Given the description of an element on the screen output the (x, y) to click on. 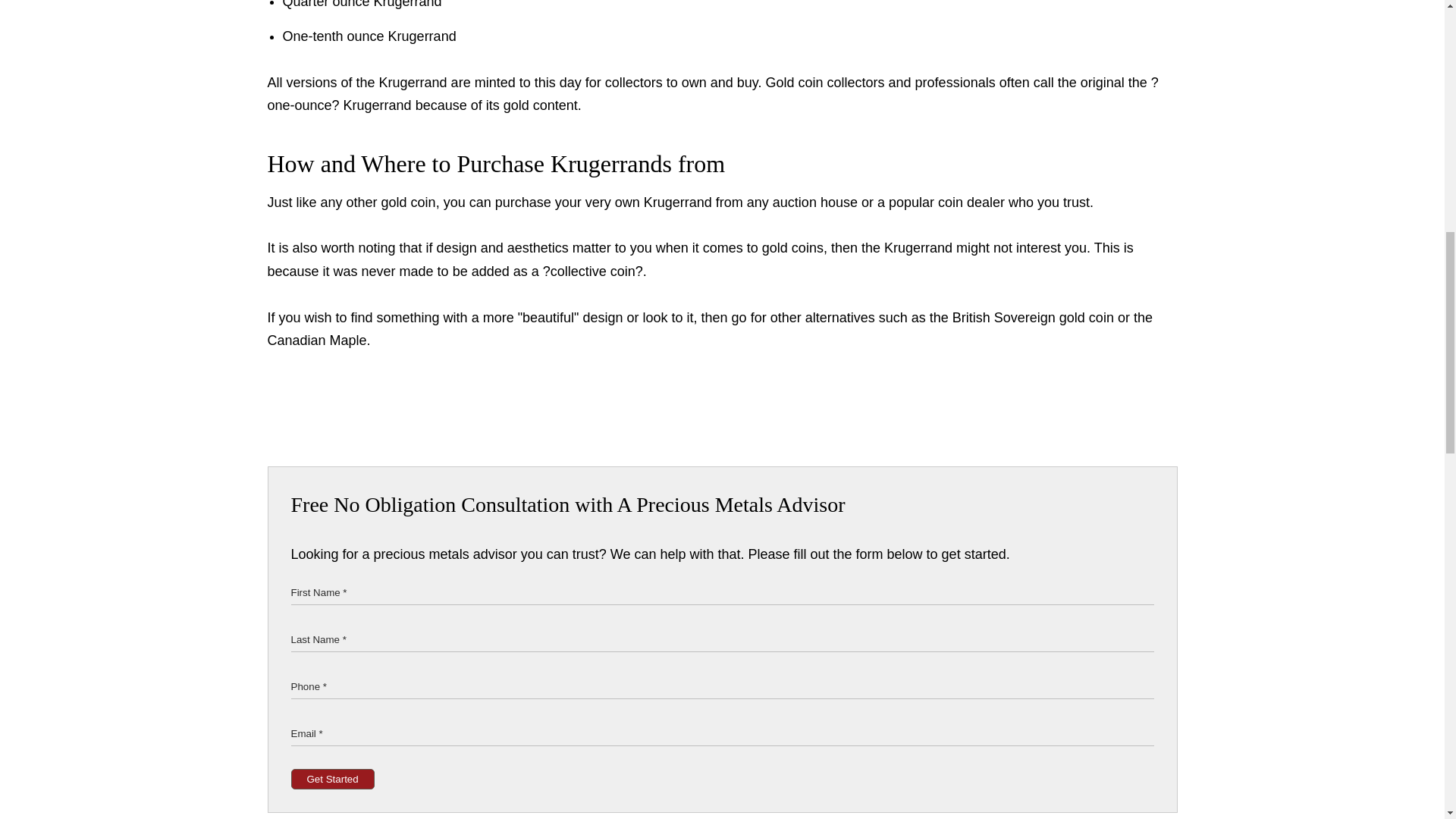
Get Started (332, 779)
